Given the description of an element on the screen output the (x, y) to click on. 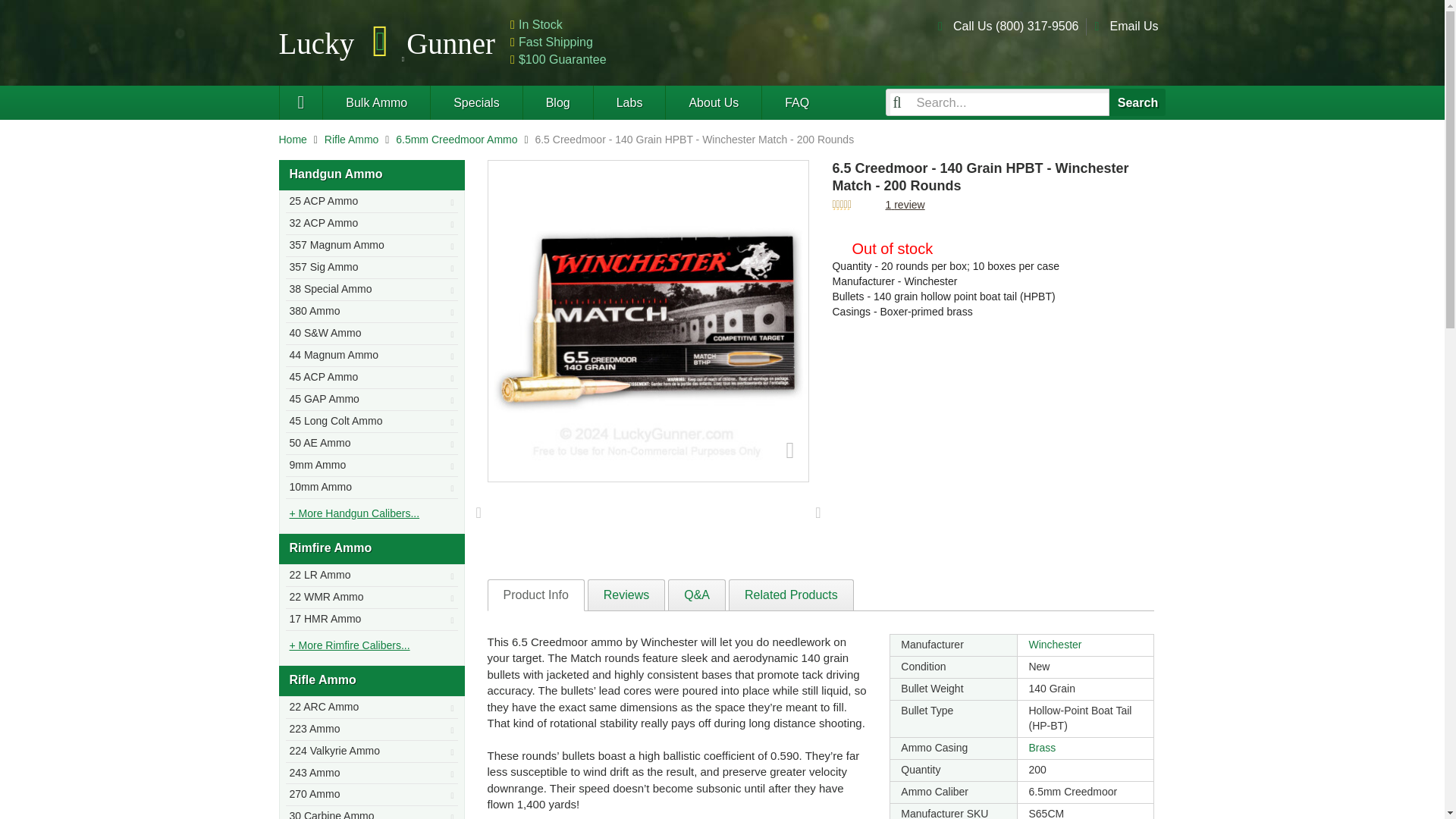
Call Us (1015, 25)
Lucky Gunner (301, 102)
6.5mm Creedmoor Ammo (456, 139)
Email Us (1133, 25)
Rifle Ammo (351, 139)
Home (293, 139)
Read reviews about this 6.5mm Creedmoor Ammo (904, 204)
Email Us (1133, 25)
About Lucky Gunner (713, 102)
FAQ (796, 102)
